Given the description of an element on the screen output the (x, y) to click on. 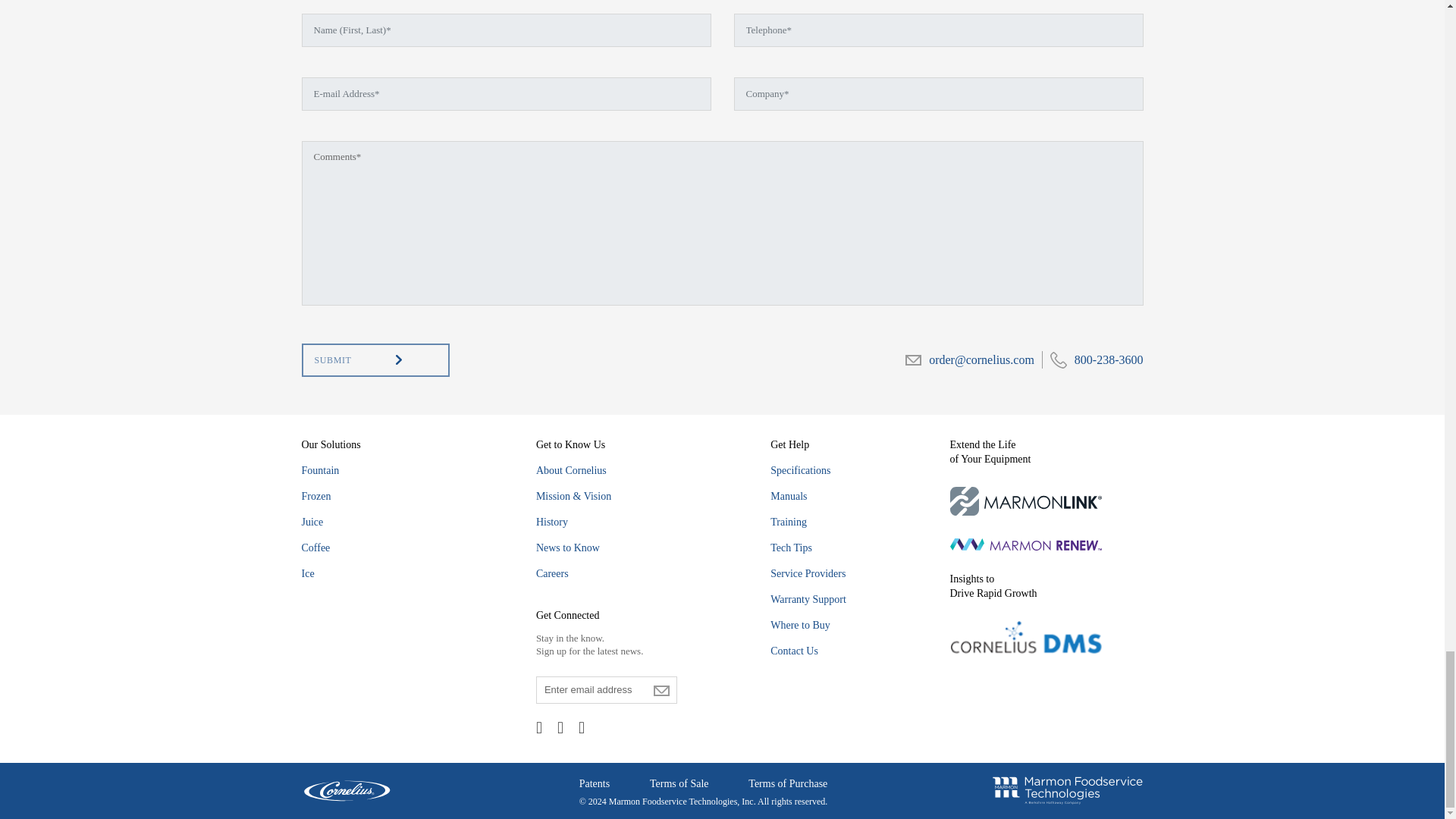
Submit (375, 359)
